Given the description of an element on the screen output the (x, y) to click on. 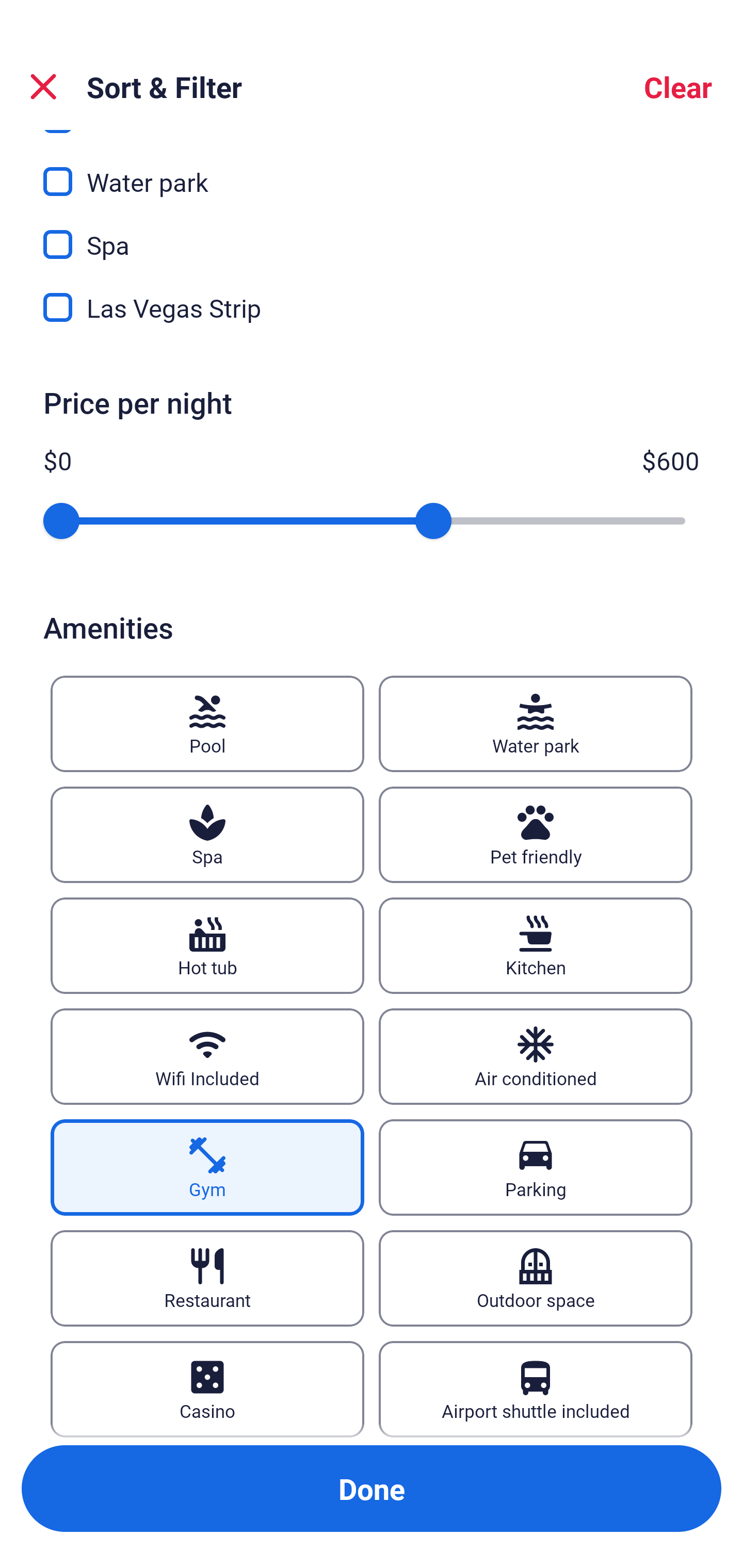
Close Sort and Filter (43, 86)
Clear (677, 86)
Water park, Water park (371, 169)
Spa, Spa (371, 233)
Las Vegas Strip, Las Vegas Strip (371, 307)
Pool (207, 723)
Water park (535, 723)
Spa (207, 834)
Pet friendly (535, 834)
Hot tub (207, 945)
Kitchen (535, 945)
Wifi Included (207, 1056)
Air conditioned (535, 1056)
Gym (207, 1167)
Parking (535, 1167)
Restaurant (207, 1278)
Outdoor space (535, 1278)
Casino (207, 1388)
Airport shuttle included (535, 1388)
Apply and close Sort and Filter Done (371, 1488)
